Given the description of an element on the screen output the (x, y) to click on. 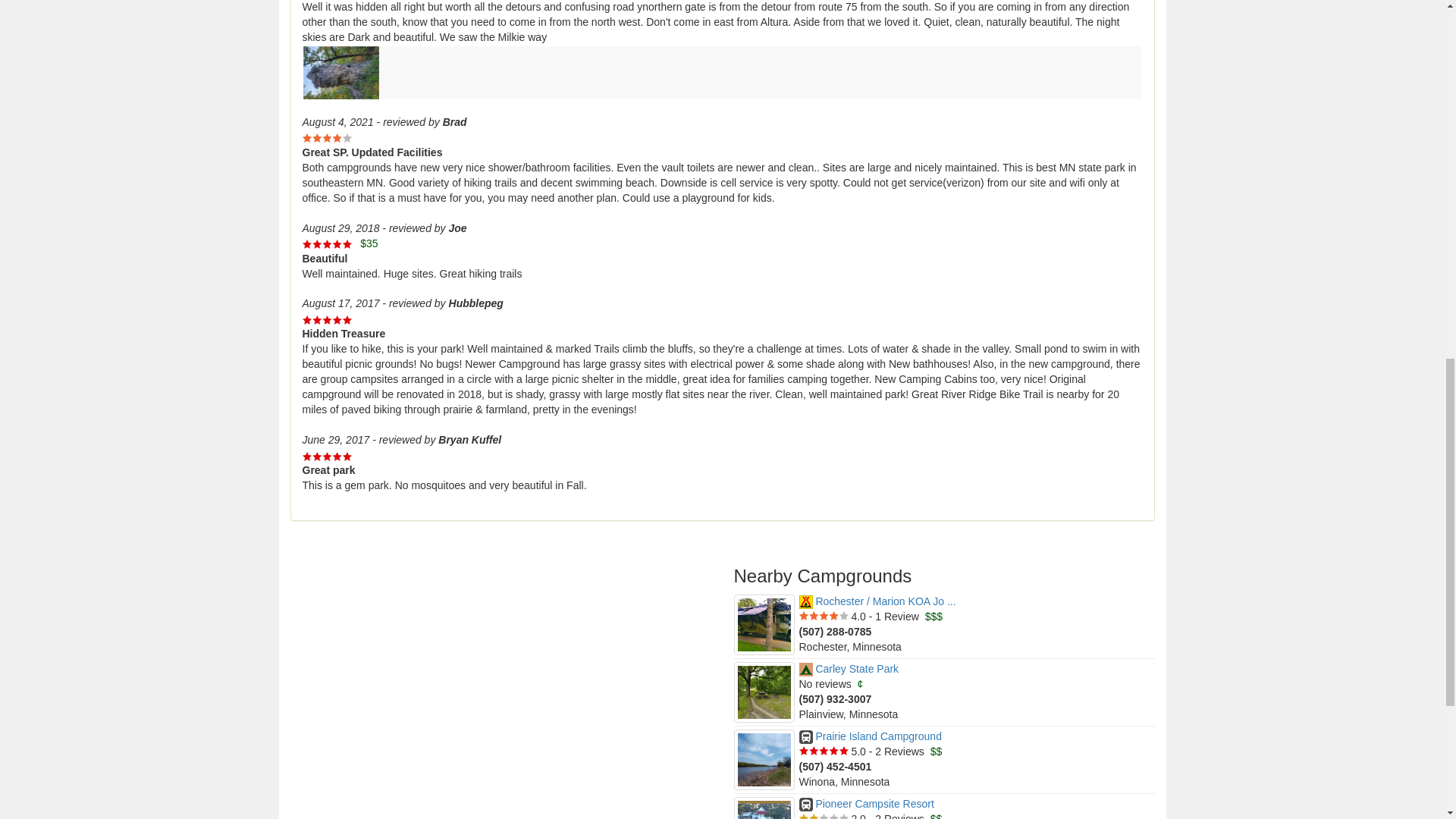
 Carley State Park (849, 668)
 Prairie Island Campground (870, 736)
 Pioneer Campsite Resort (866, 803)
